Given the description of an element on the screen output the (x, y) to click on. 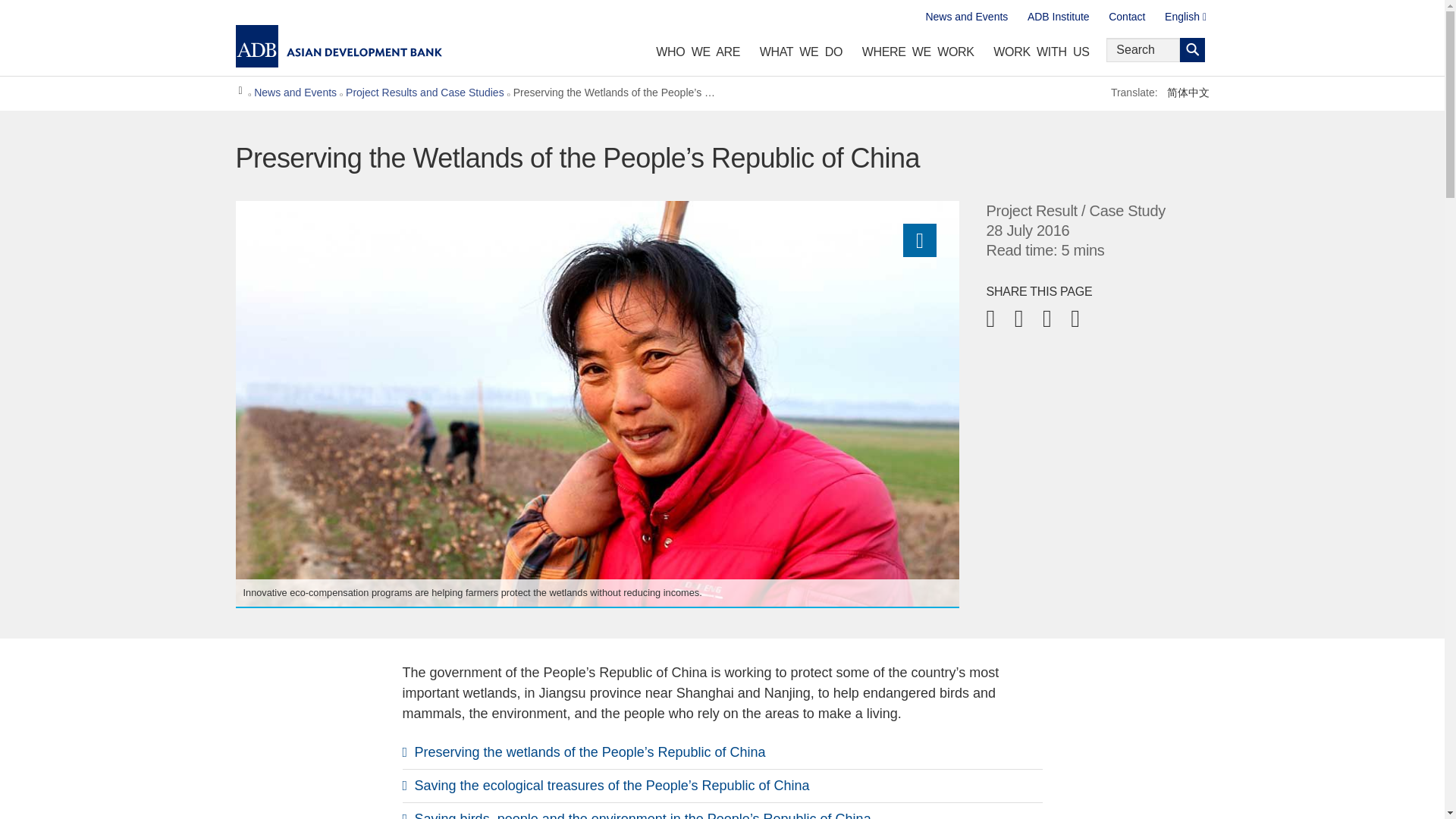
WORK  WITH  US (1041, 55)
English   (1186, 17)
Search (1192, 49)
ADB Home (338, 46)
Share (919, 240)
News and Events (966, 17)
WHO  WE  ARE (697, 55)
ADB Institute (1058, 17)
Tweet this (721, 811)
